Given the description of an element on the screen output the (x, y) to click on. 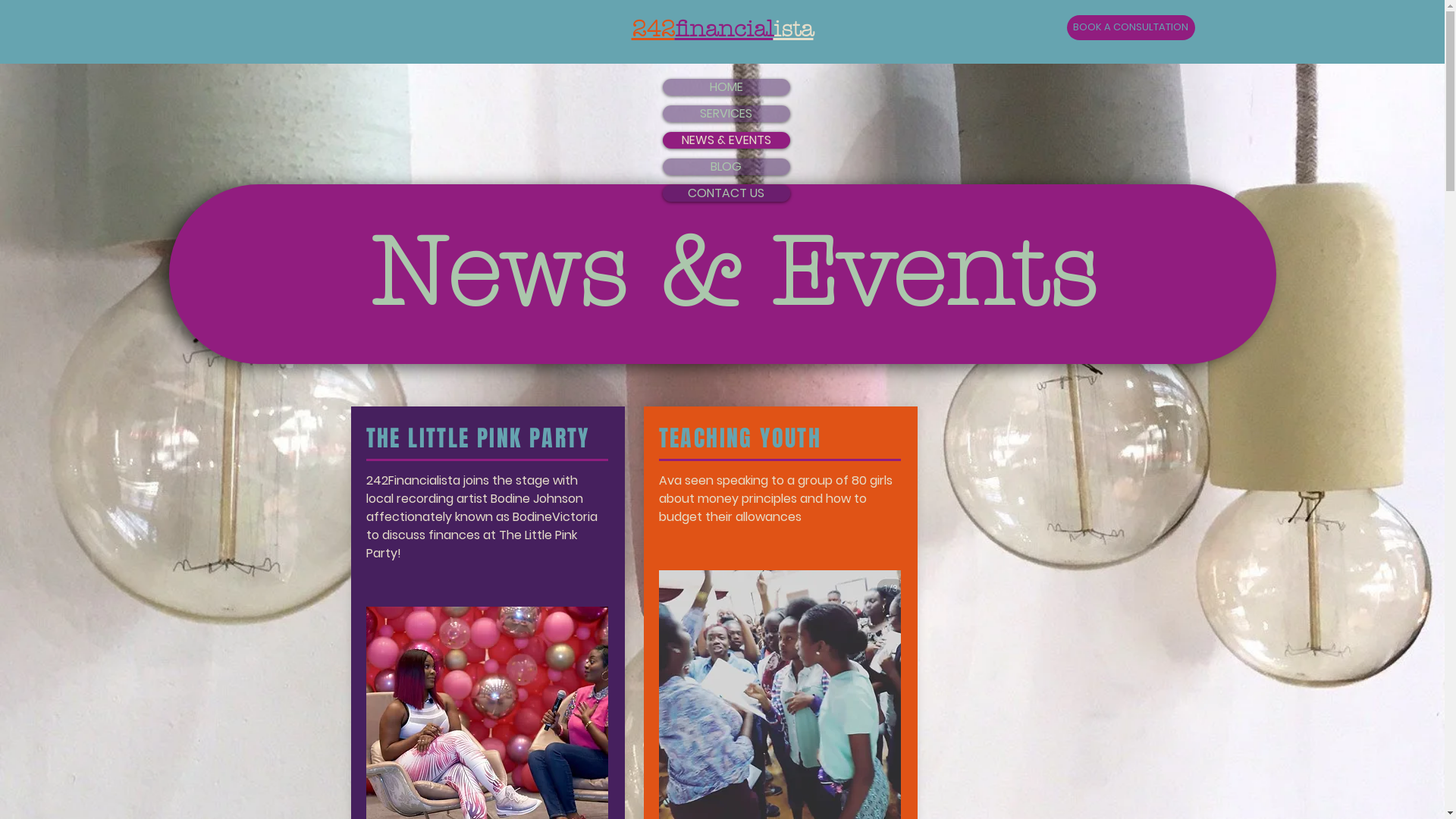
BOOK A CONSULTATION Element type: text (1130, 27)
CONTACT US Element type: text (726, 193)
HOME Element type: text (726, 86)
BLOG Element type: text (726, 166)
SERVICES Element type: text (726, 113)
NEWS & EVENTS Element type: text (726, 139)
242financialista Element type: text (721, 28)
